Given the description of an element on the screen output the (x, y) to click on. 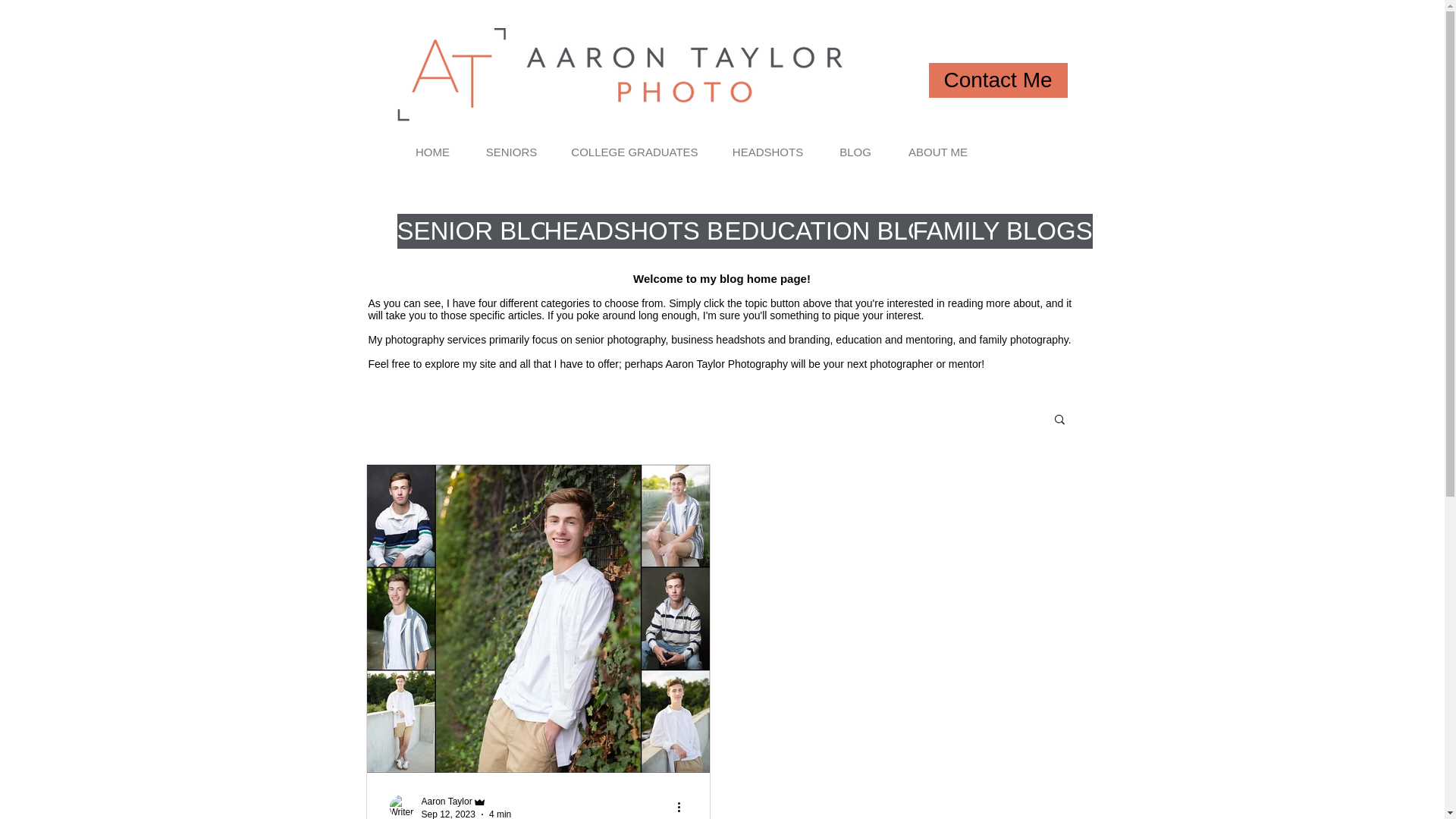
HEADSHOTS BLOGS (668, 230)
BLOG (855, 151)
HEADSHOTS (767, 151)
SENIOR BLOGS (491, 230)
ABOUT ME (938, 151)
Sep 12, 2023 (449, 813)
Aaron Taylor (446, 801)
HOME (432, 151)
FAMILY BLOGS (1002, 230)
EDUCATION BLOGS (844, 230)
Aaron Taylor (467, 801)
SENIORS (511, 151)
Contact Me (997, 80)
COLLEGE GRADUATES (634, 151)
4 min (500, 813)
